Given the description of an element on the screen output the (x, y) to click on. 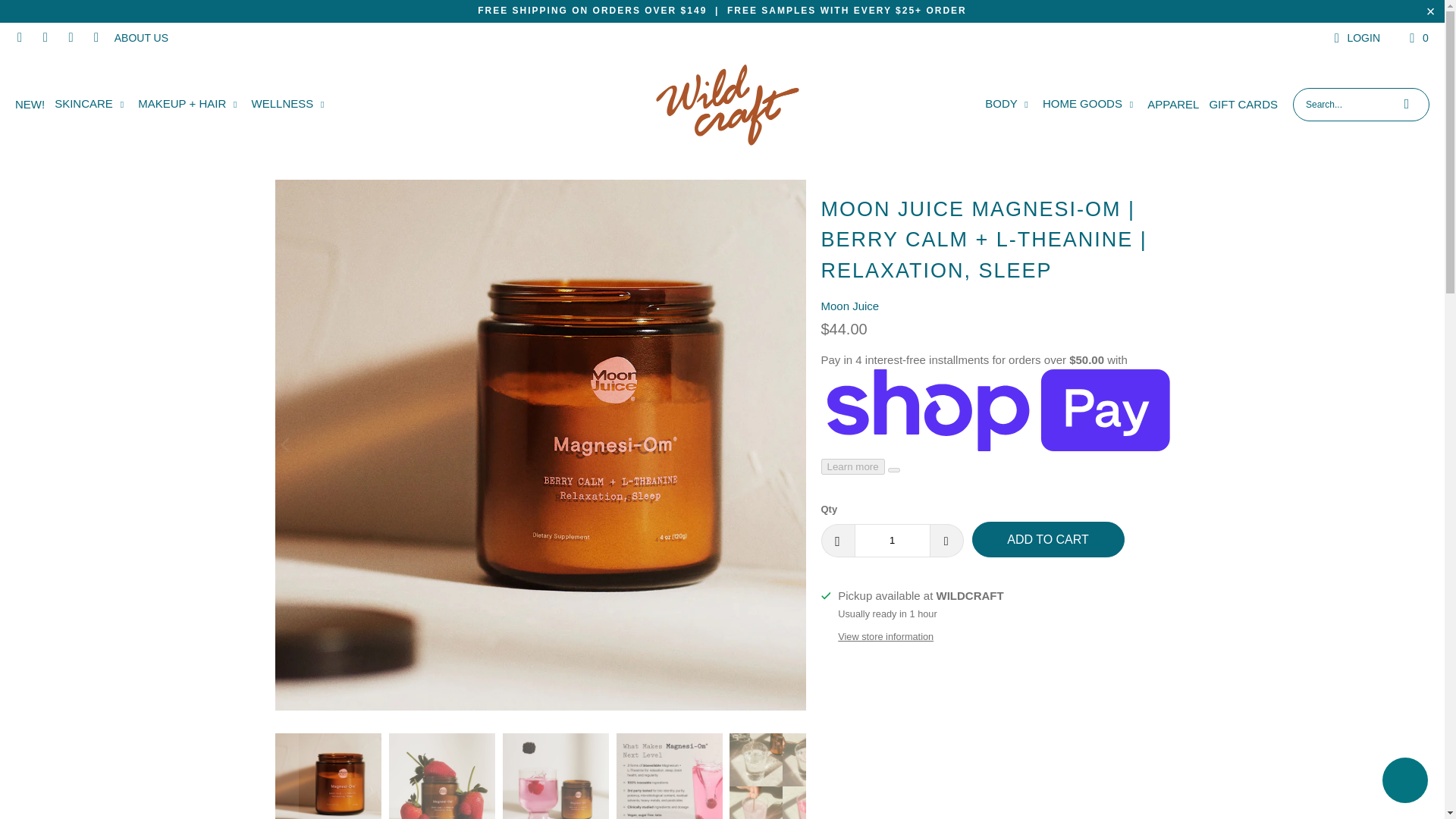
Wildcraft (727, 104)
My Account  (1353, 37)
Wildcraft on TikTok (69, 37)
1 (891, 540)
Wildcraft on Facebook (18, 37)
Wildcraft on YouTube (95, 37)
Wildcraft on Instagram (44, 37)
